Given the description of an element on the screen output the (x, y) to click on. 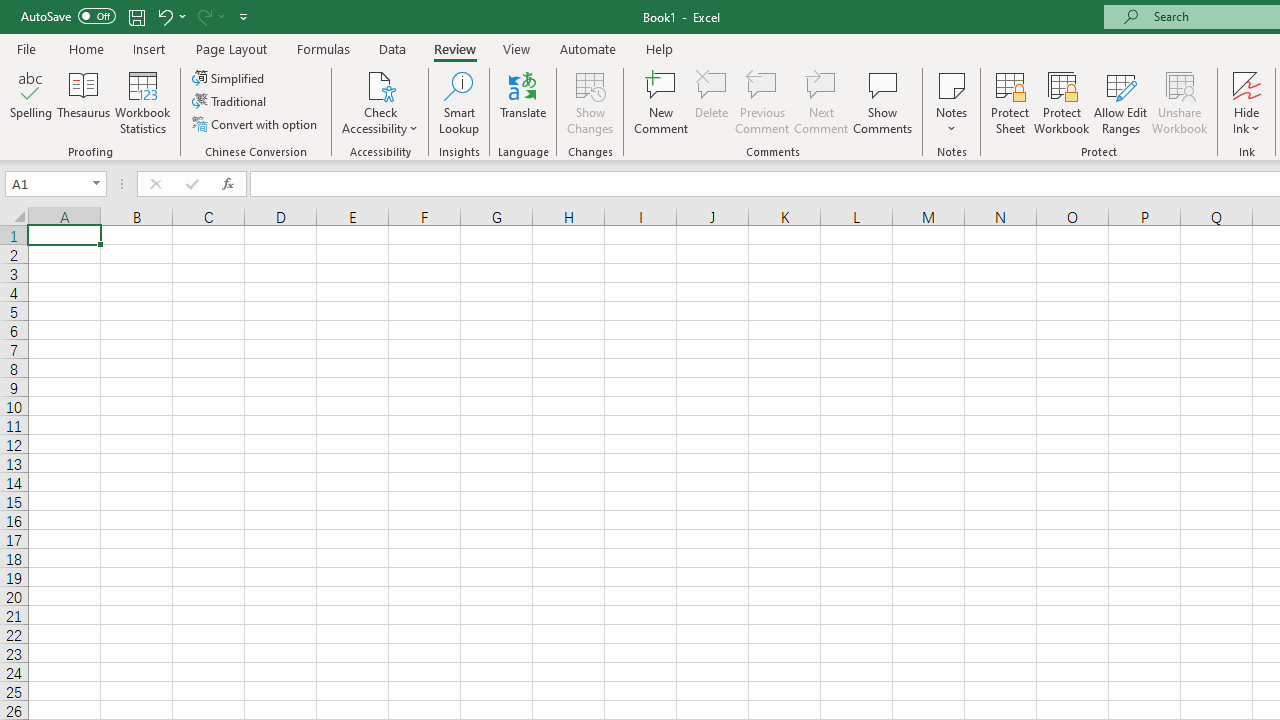
Simplified (230, 78)
Traditional (230, 101)
